Given the description of an element on the screen output the (x, y) to click on. 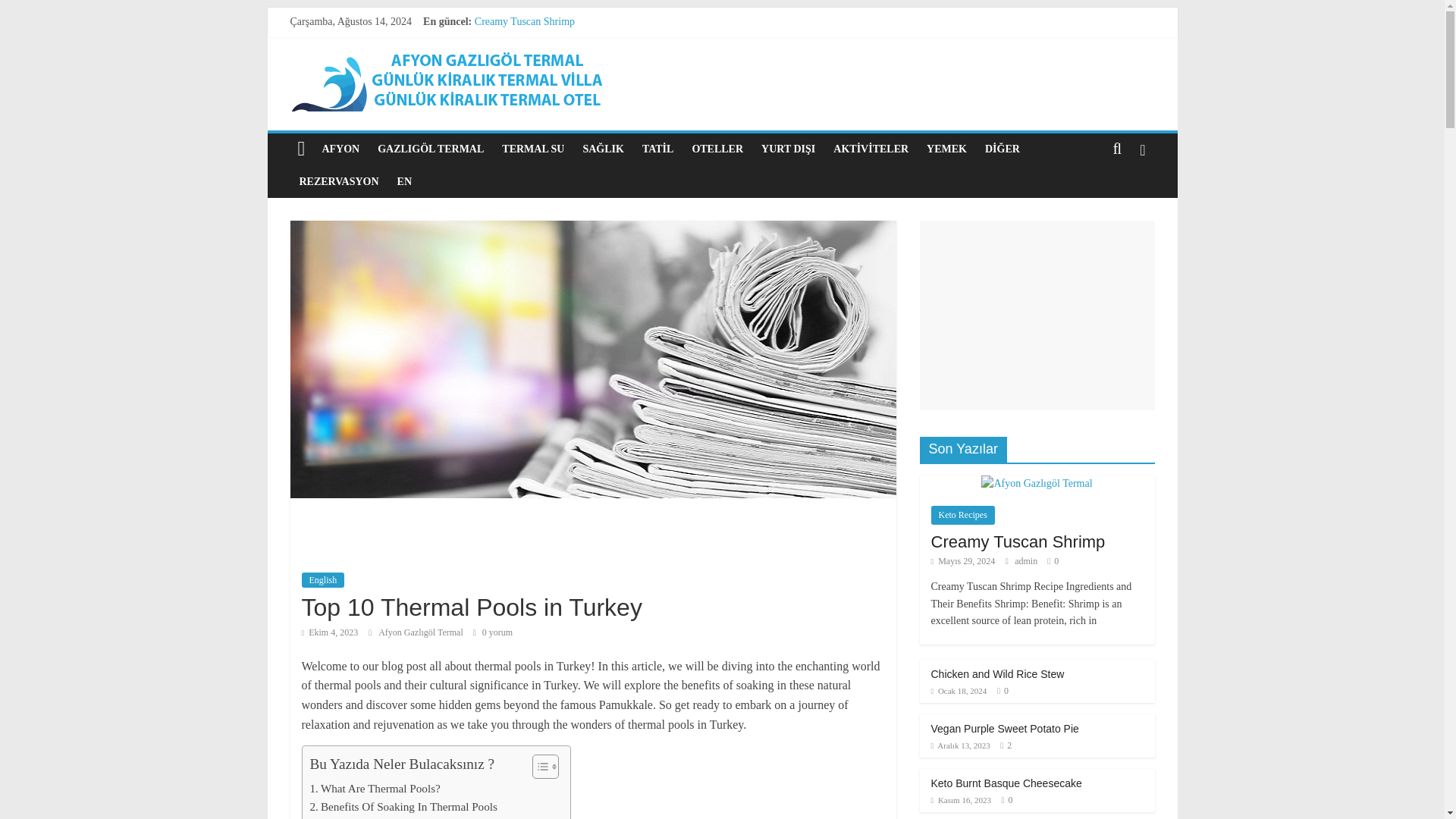
TATIL (657, 149)
OTELLER (717, 149)
EN (404, 182)
What Are Thermal Pools? (373, 788)
YEMEK (946, 149)
Chicken and Wild Rice Stew (535, 38)
7:45 pm (329, 632)
Pepperoni and Mozzarella Pull-Apart Bread (567, 89)
Ekim 4, 2023 (329, 632)
